Given the description of an element on the screen output the (x, y) to click on. 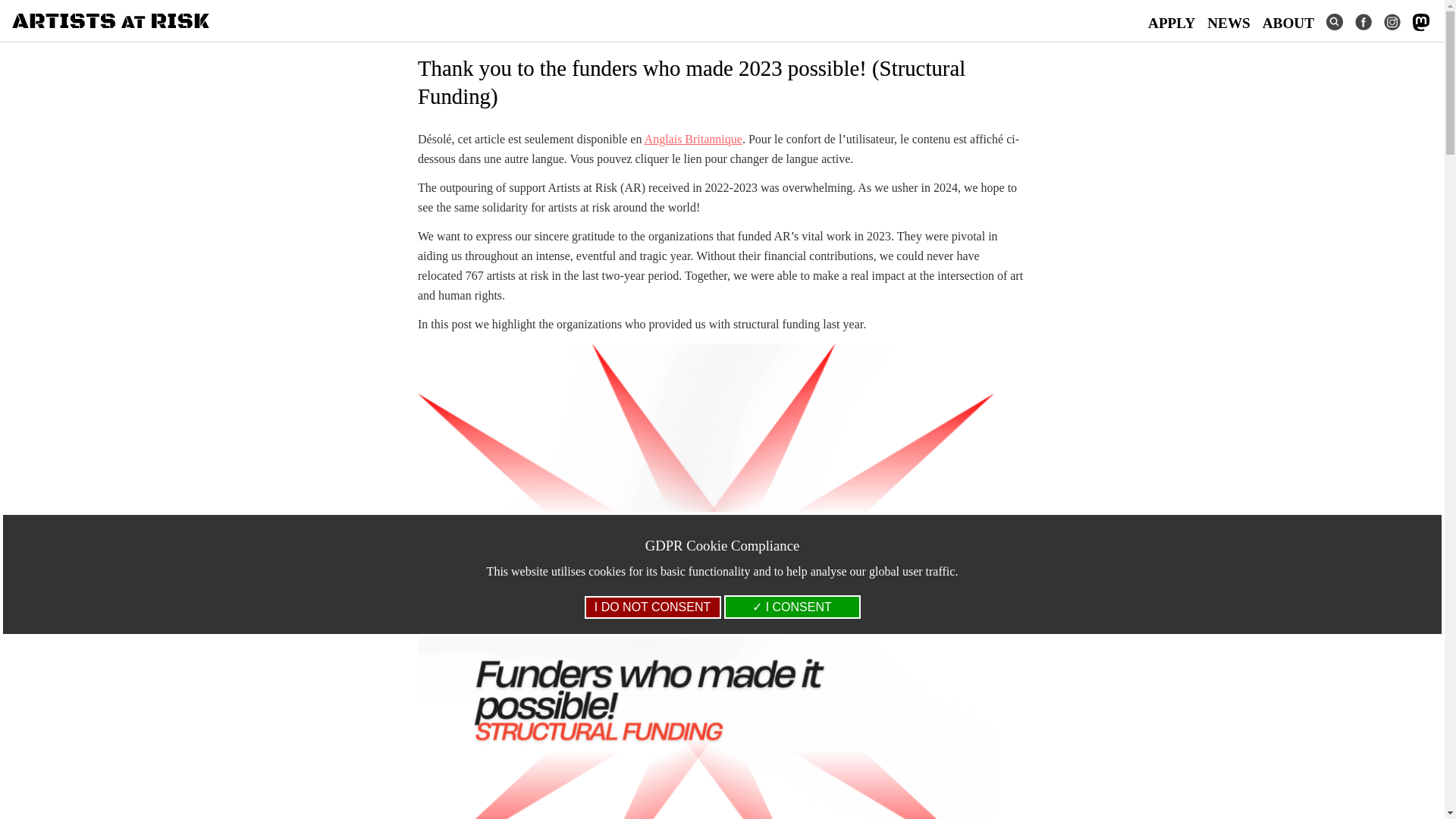
ABOUT (1288, 23)
English (693, 138)
I DO NOT CONSENT (651, 607)
NEWS (1228, 23)
APPLY (1171, 23)
Anglais Britannique (693, 138)
